Given the description of an element on the screen output the (x, y) to click on. 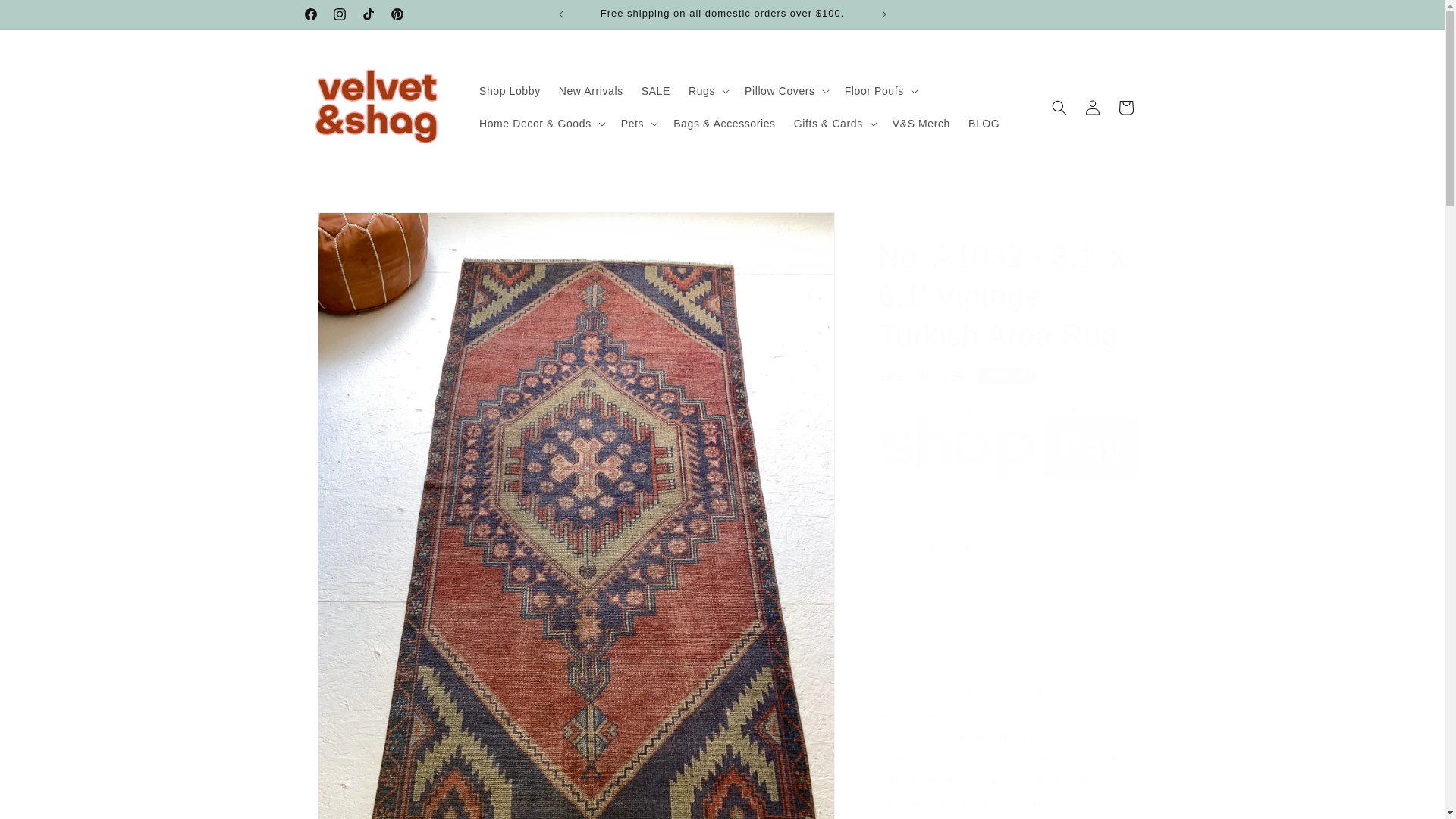
Instagram (338, 14)
1 (931, 547)
TikTok (367, 14)
Facebook (309, 14)
Pinterest (395, 14)
Skip to content (45, 17)
